Given the description of an element on the screen output the (x, y) to click on. 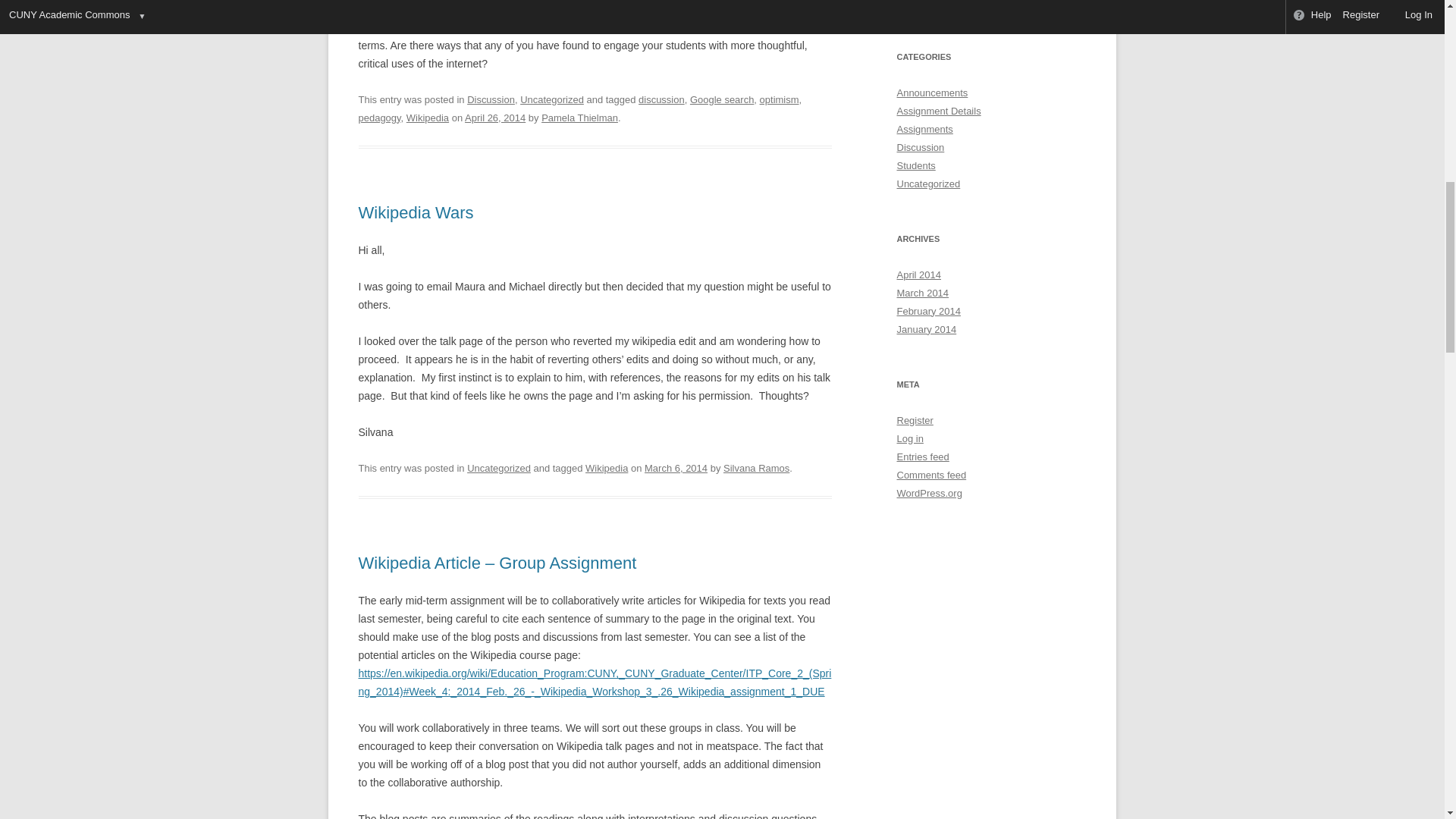
Wikipedia (606, 468)
Wikipedia (427, 117)
optimism (779, 99)
Google search (722, 99)
April 26, 2014 (494, 117)
View all posts by Pamela Thielman (579, 117)
6:48 pm (494, 117)
Discussion (491, 99)
discussion (661, 99)
4:26 pm (676, 468)
Uncategorized (551, 99)
Uncategorized (499, 468)
Pamela Thielman (579, 117)
Wikipedia Wars (415, 212)
Silvana Ramos (756, 468)
